Given the description of an element on the screen output the (x, y) to click on. 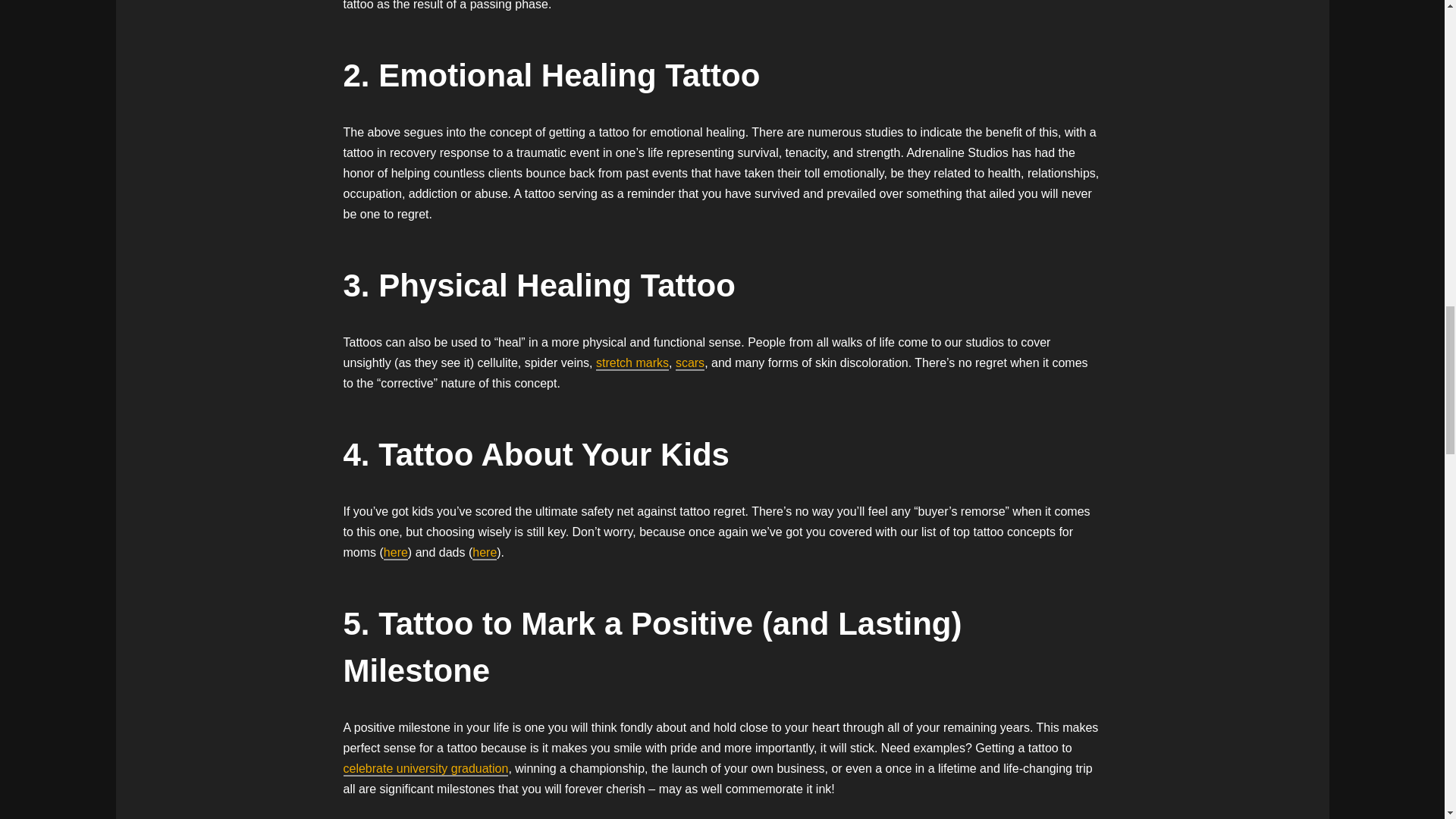
celebrate university graduation (425, 769)
scars (689, 363)
stretch marks (631, 363)
here (483, 553)
here (395, 553)
